Given the description of an element on the screen output the (x, y) to click on. 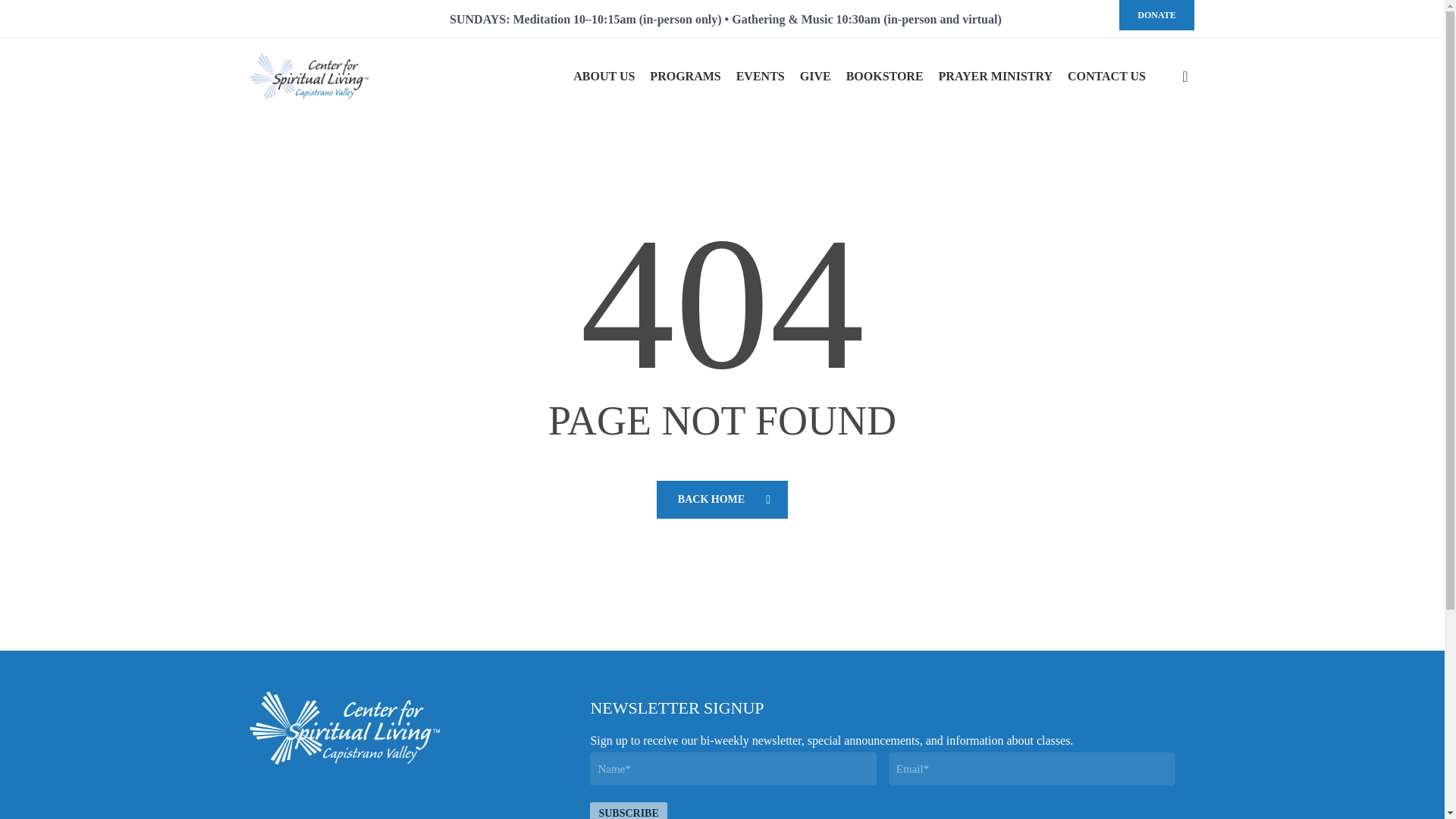
EVENTS (760, 76)
search (1184, 75)
BACK HOME (721, 499)
PRAYER MINISTRY (995, 76)
BOOKSTORE (884, 76)
Subscribe (627, 810)
DONATE (1156, 15)
PROGRAMS (684, 76)
Subscribe (627, 810)
CONTACT US (1106, 76)
